Given the description of an element on the screen output the (x, y) to click on. 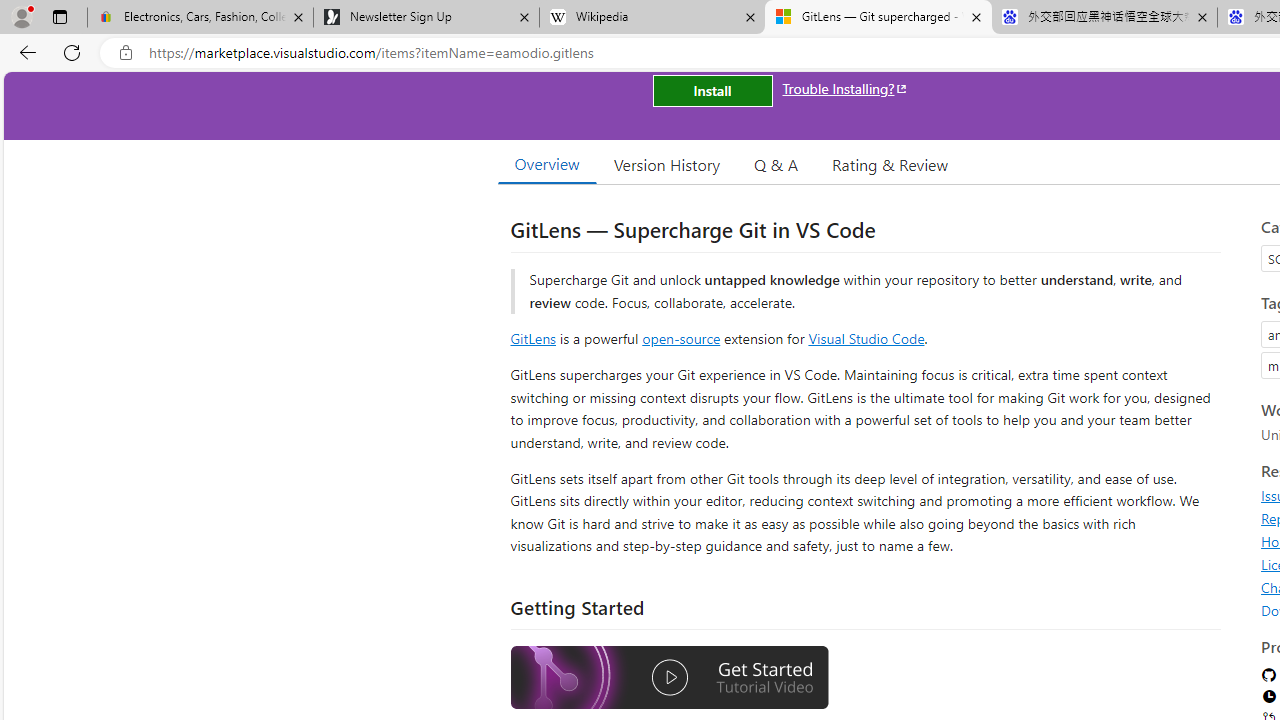
Install (712, 90)
Overview (546, 164)
Electronics, Cars, Fashion, Collectibles & More | eBay (200, 17)
Version History (667, 164)
Watch the GitLens Getting Started video (669, 679)
Wikipedia (652, 17)
Visual Studio Code (866, 337)
